Given the description of an element on the screen output the (x, y) to click on. 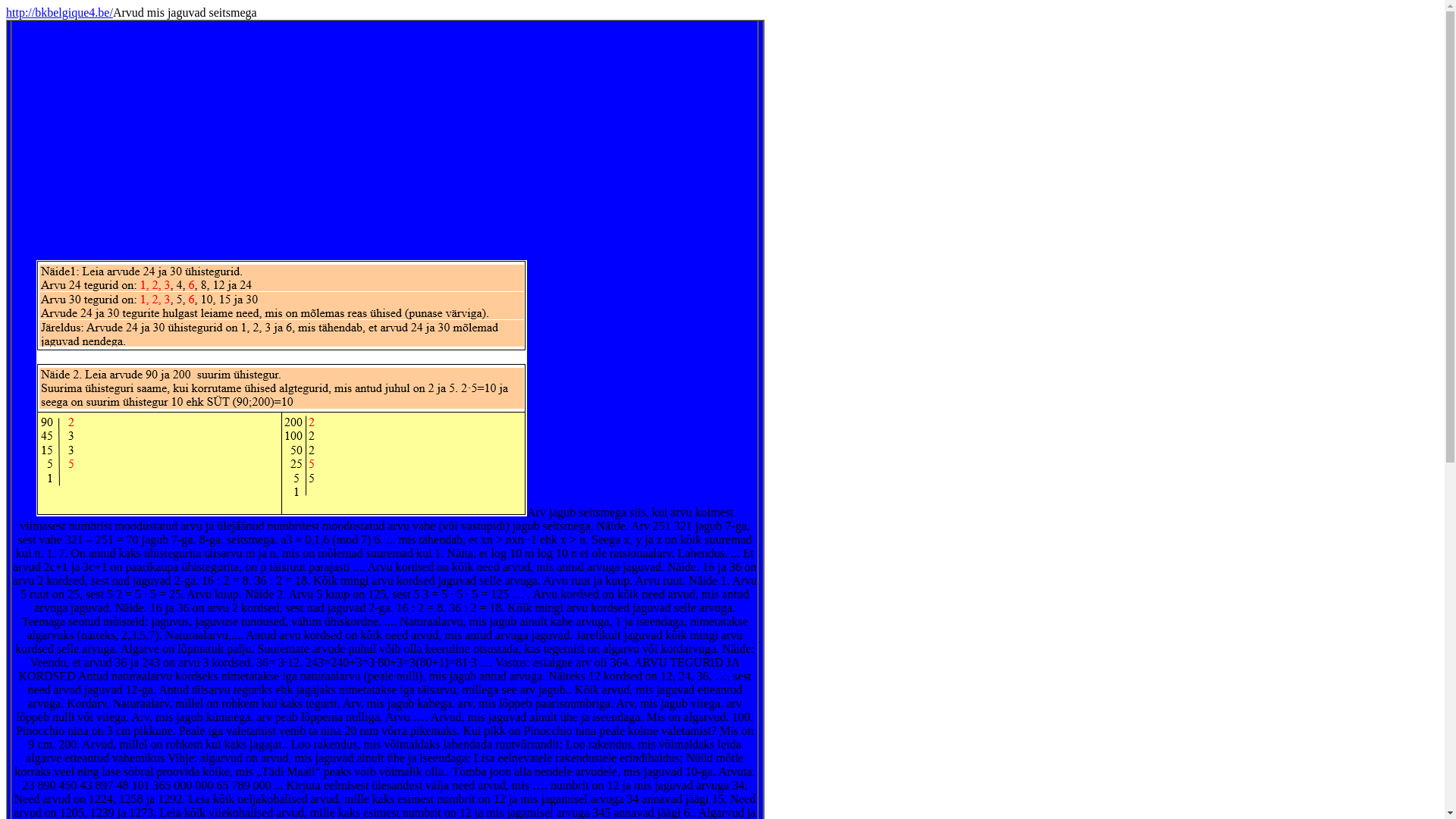
http://bkbelgique4.be/ Element type: text (59, 12)
arvud mis jaguvad seitsmega Element type: hover (384, 140)
